Given the description of an element on the screen output the (x, y) to click on. 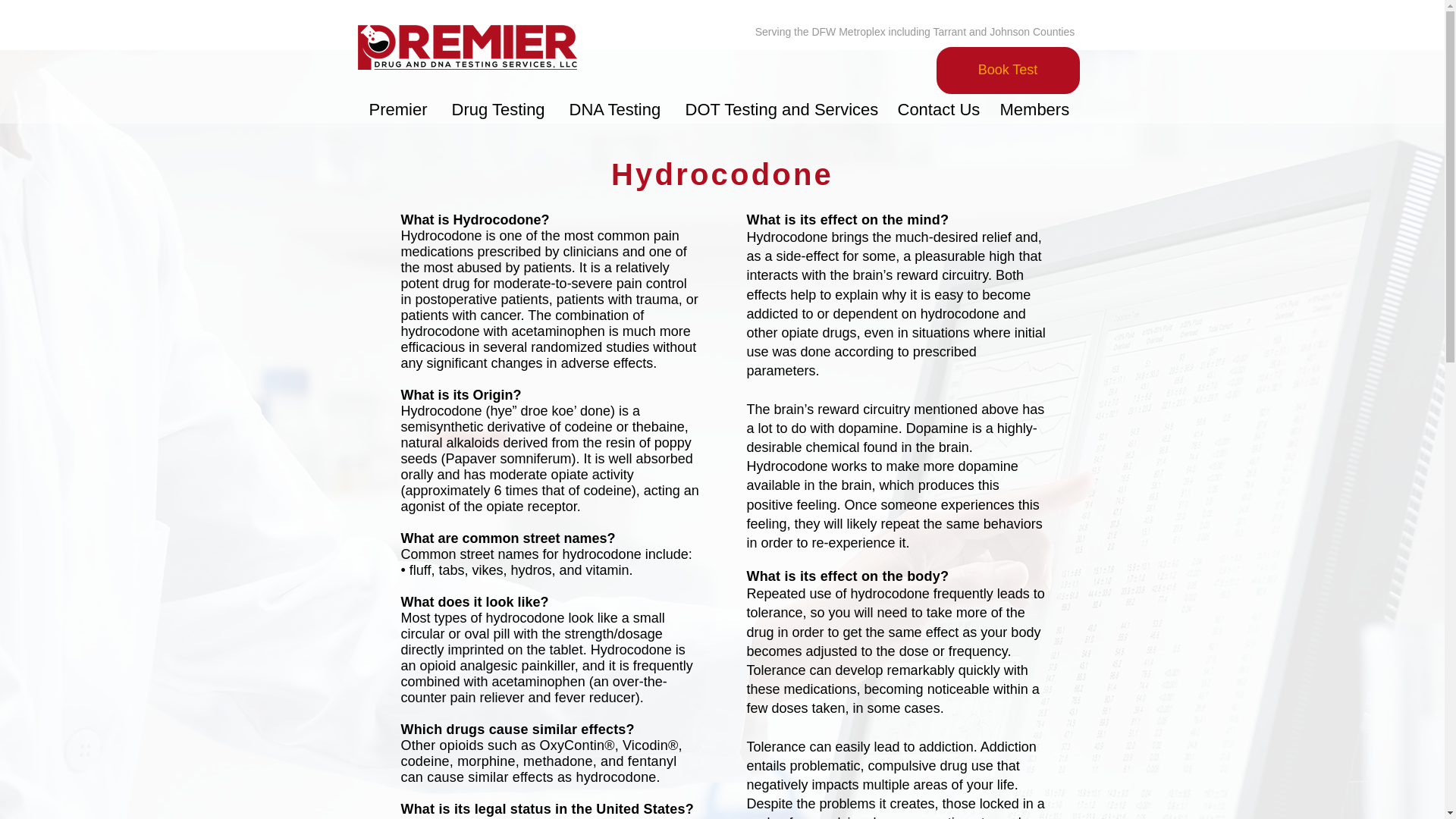
DNA Testing (615, 107)
Contact Us (936, 107)
Premier (399, 107)
Drug Testing (498, 107)
Book Test (1007, 70)
Members (1034, 107)
DOT Testing and Services (778, 107)
